Given the description of an element on the screen output the (x, y) to click on. 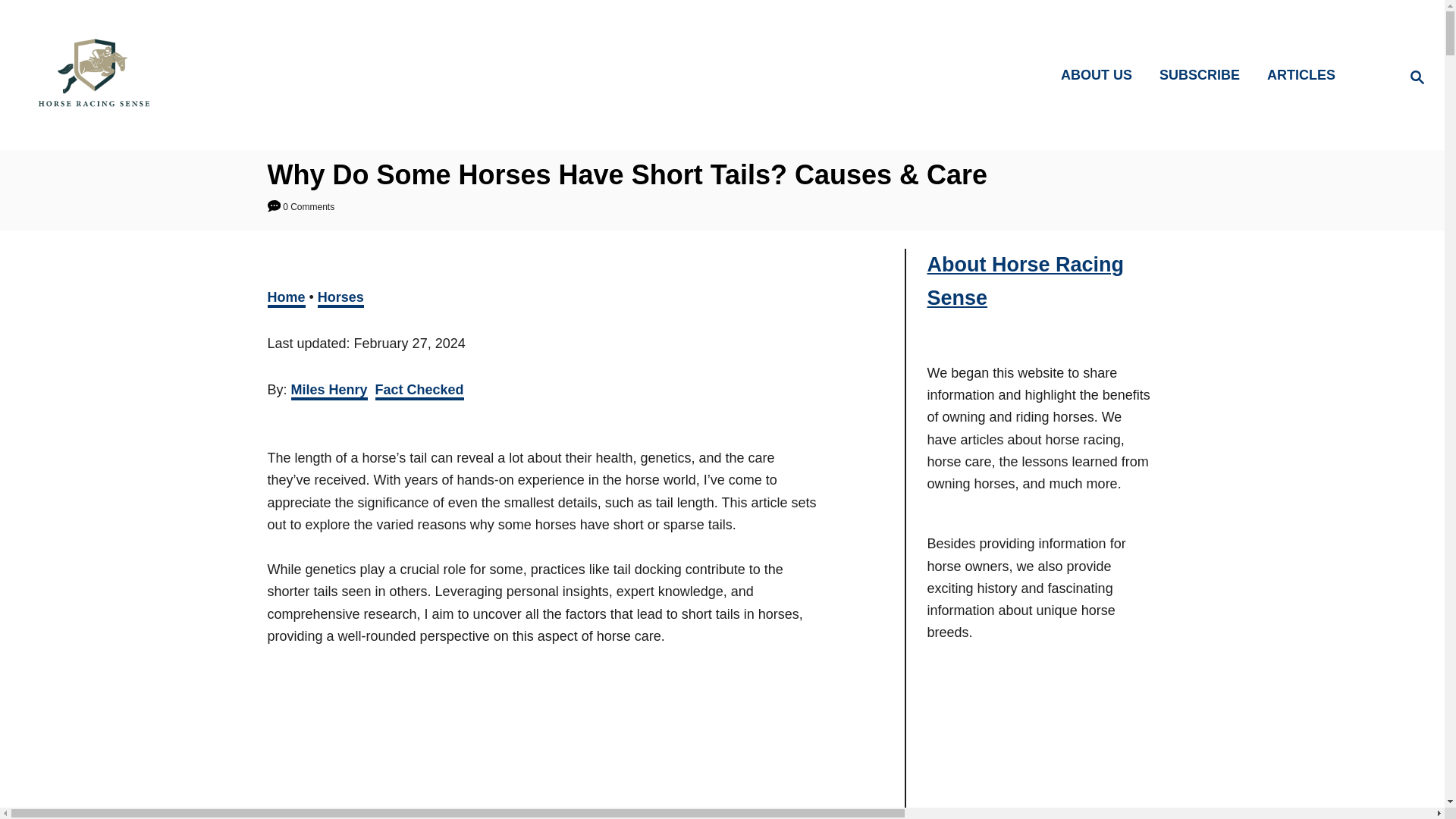
Magnifying Glass (1416, 76)
SUBSCRIBE (1203, 75)
Miles Henry (329, 391)
Home (285, 298)
Horses (340, 298)
Horse Racing Sense (204, 74)
ARTICLES (1305, 75)
Fact Checked (419, 391)
ABOUT US (1100, 75)
